Given the description of an element on the screen output the (x, y) to click on. 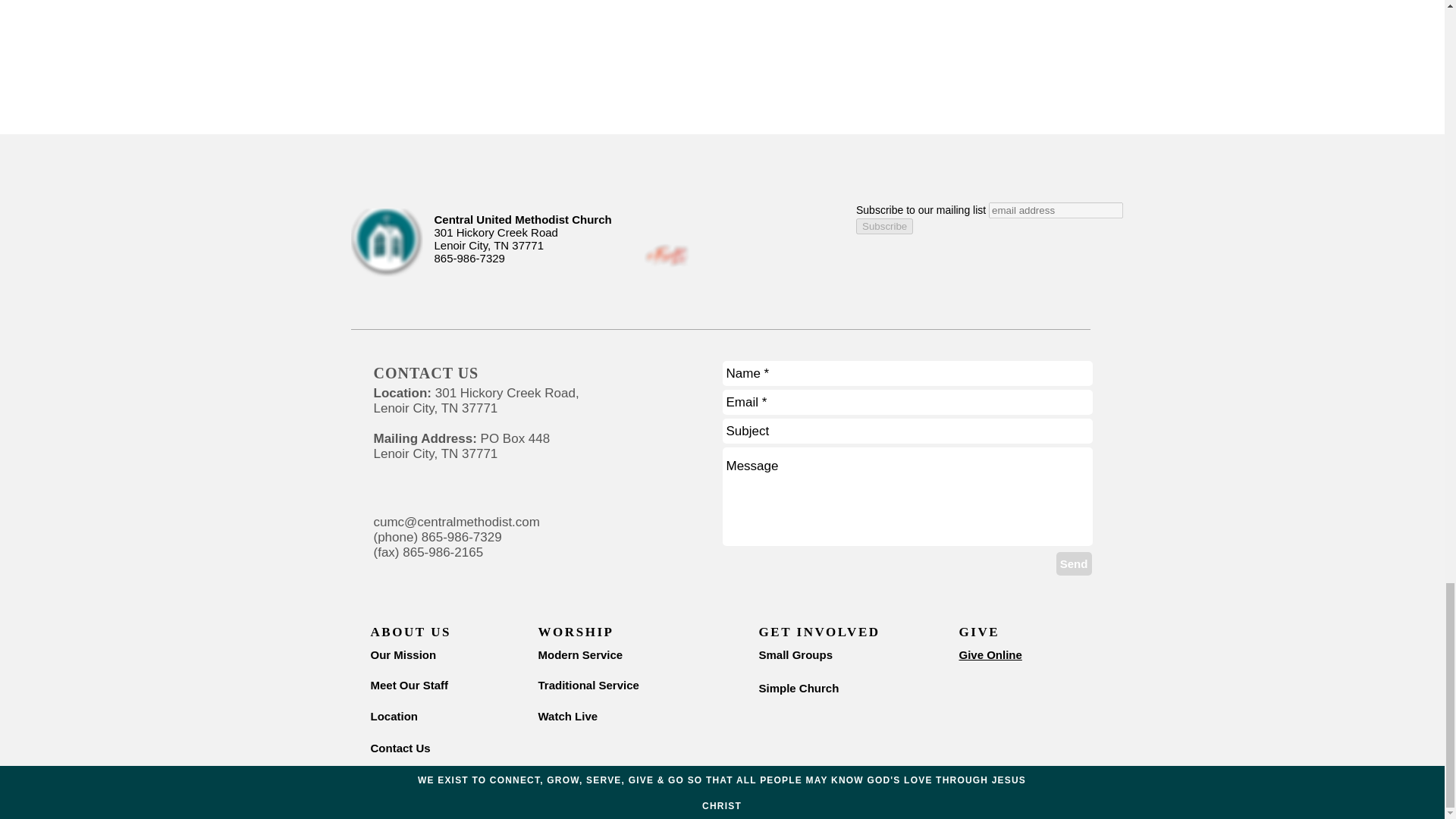
Embedded Content (1050, 256)
